Given the description of an element on the screen output the (x, y) to click on. 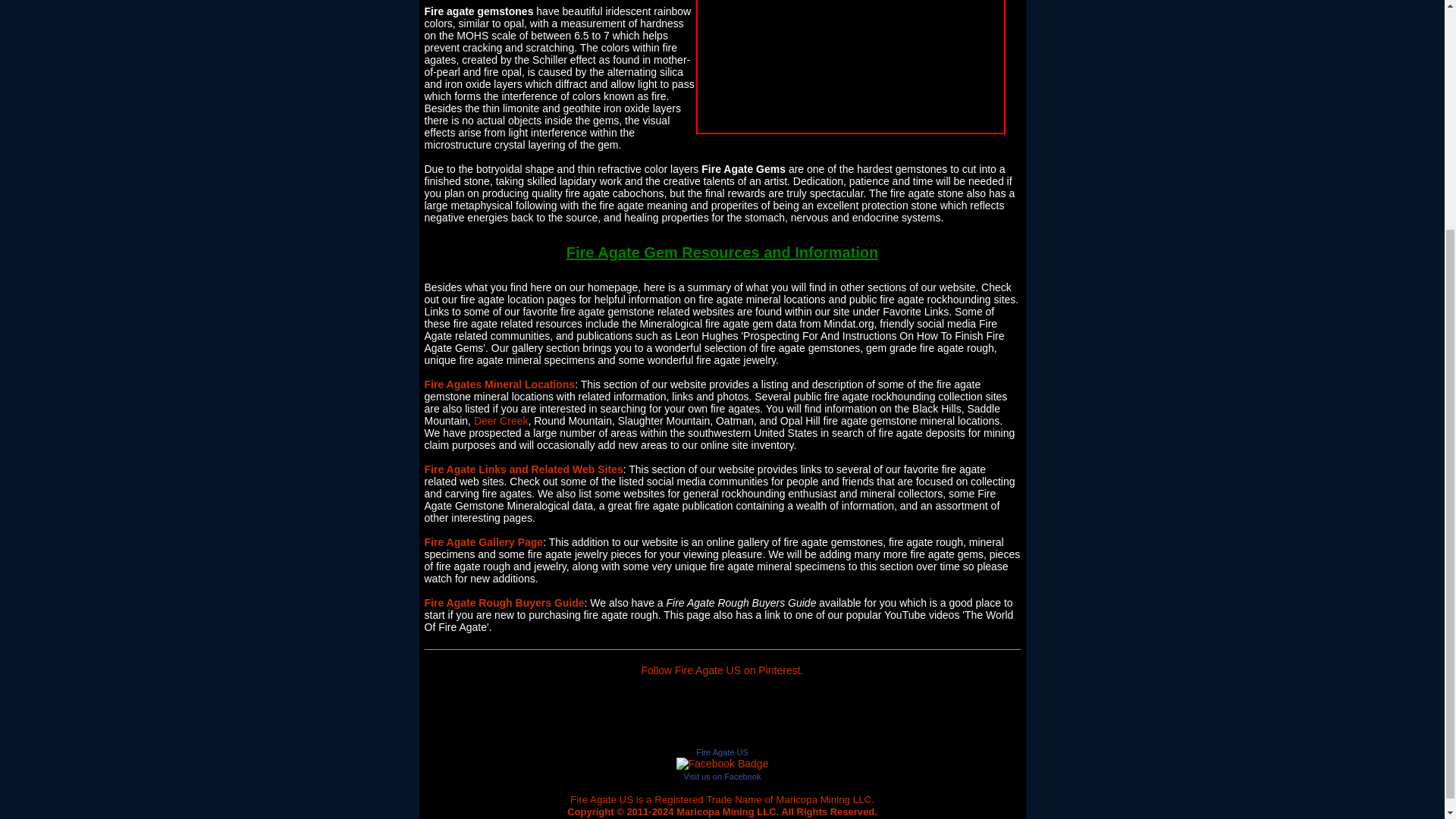
Fire Agate Gemstone Links (524, 469)
Fire Agate US YouTube Channel (773, 714)
Fire Agate Gallery Page (484, 541)
Maricopa Mining LLC. (825, 799)
Fire Agate YouTube Channel (773, 714)
Fire Agate RSS Blog Feed (673, 714)
Fire Agate US Blog (673, 714)
Deer Creek (501, 420)
Fire Agate Links and Related Web Sites (524, 469)
Make your own badge! (722, 776)
Fire Agate Gem Locations (500, 384)
fireagate.store (722, 763)
Fire Agate Rough Buyers Guide (505, 603)
Follow Fire Agate US on Twitter (706, 714)
Fire Agates Mineral Locations (500, 384)
